Given the description of an element on the screen output the (x, y) to click on. 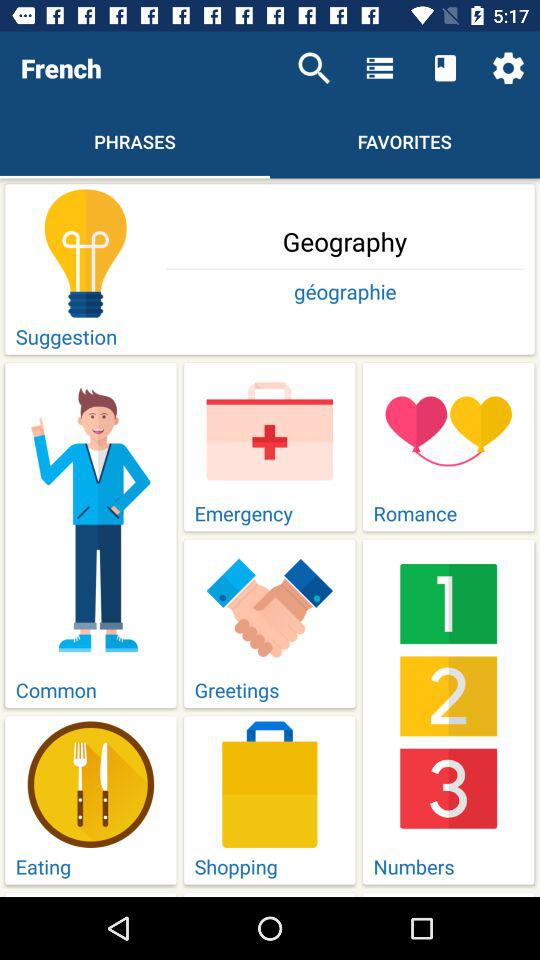
press icon next to french icon (313, 67)
